Given the description of an element on the screen output the (x, y) to click on. 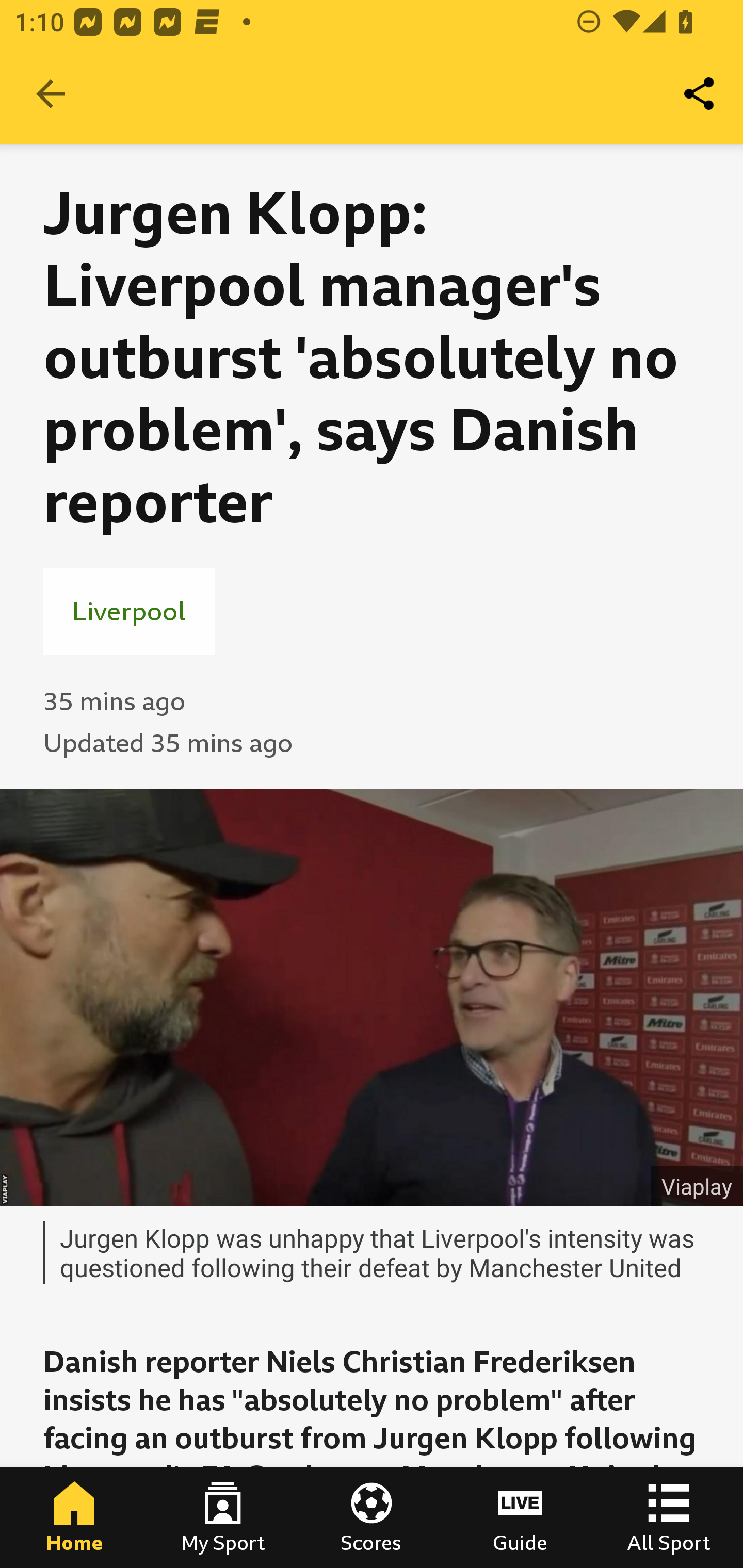
Navigate up (50, 93)
Share (699, 93)
Liverpool (129, 610)
My Sport (222, 1517)
Scores (371, 1517)
Guide (519, 1517)
All Sport (668, 1517)
